Given the description of an element on the screen output the (x, y) to click on. 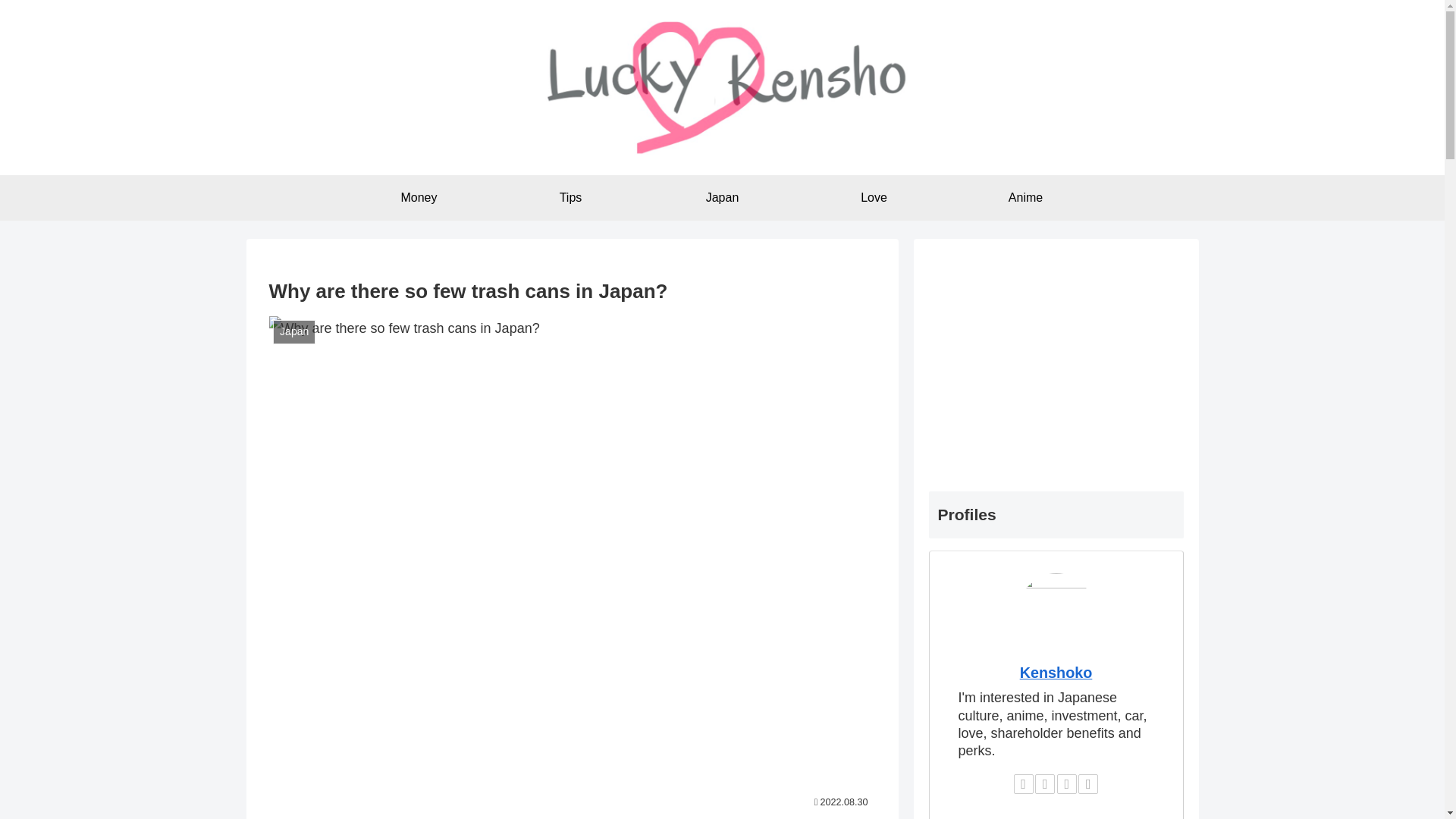
Anime (1024, 197)
Japan (721, 197)
Money (418, 197)
Advertisement (1055, 359)
Love (873, 197)
Kenshoko (1056, 672)
Post comment (572, 665)
Tips (570, 197)
